Given the description of an element on the screen output the (x, y) to click on. 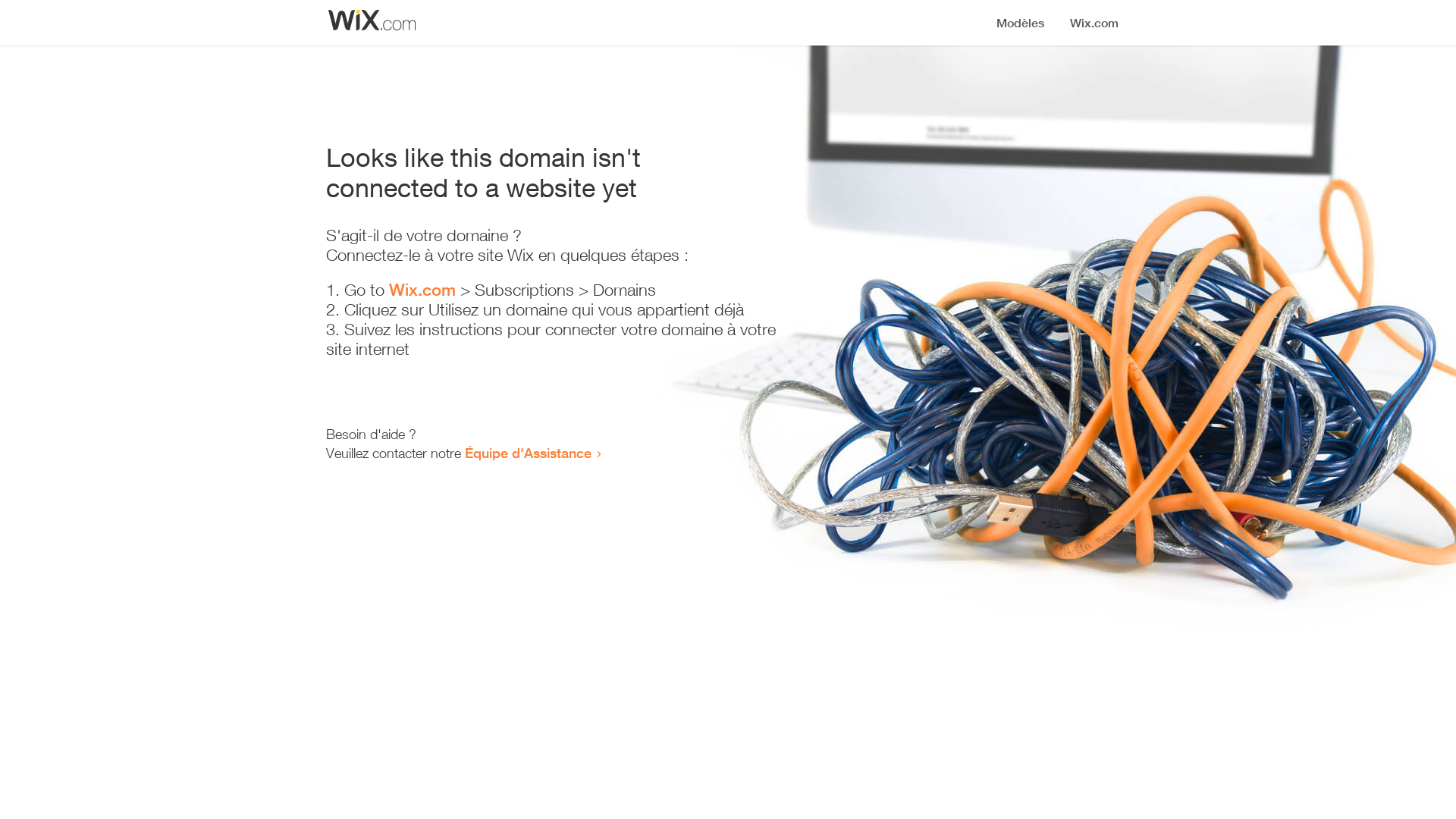
Wix.com Element type: text (422, 289)
